Given the description of an element on the screen output the (x, y) to click on. 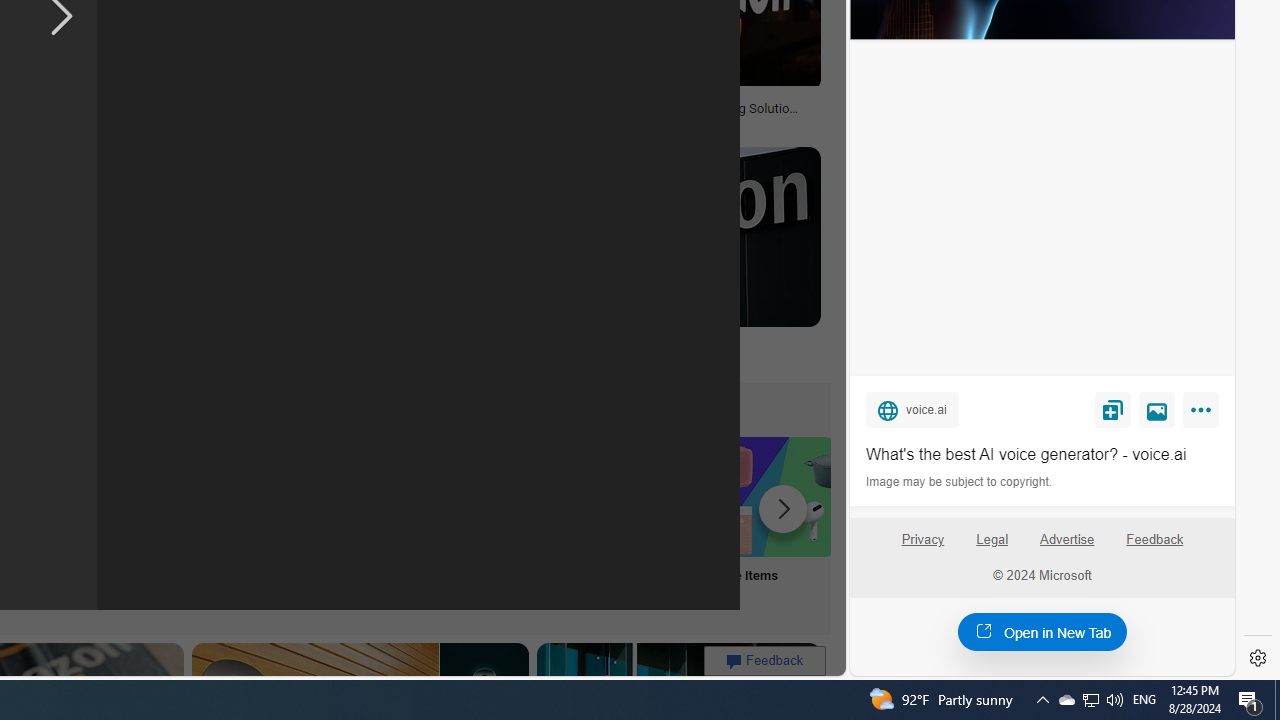
Scroll more suggestions right (783, 508)
Image result for amazon (662, 236)
Amazon Sale Items (775, 496)
vecteezy.com (317, 121)
Amazon Visa Card Login Visa Card Login (643, 521)
Mini TV (116, 521)
Amazon Online Shopping Homepage Online Shopping Homepage (248, 521)
Legal (991, 539)
Amazon (662, 343)
protothema.gr (554, 358)
